Given the description of an element on the screen output the (x, y) to click on. 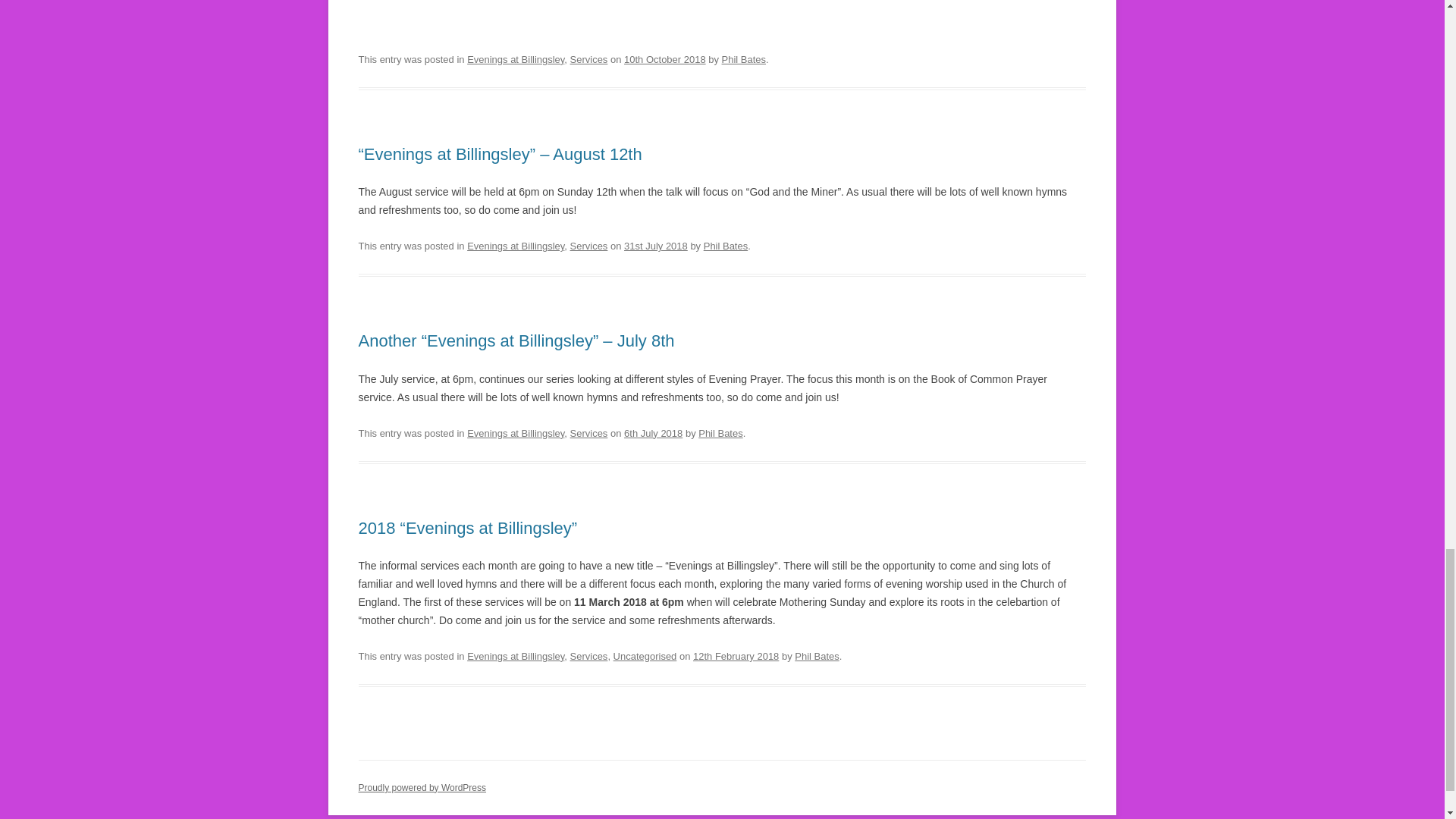
View all posts by Phil Bates (725, 245)
7:51 pm (655, 245)
Evenings at Billingsley (515, 59)
6:02 pm (665, 59)
View all posts by Phil Bates (743, 59)
